Given the description of an element on the screen output the (x, y) to click on. 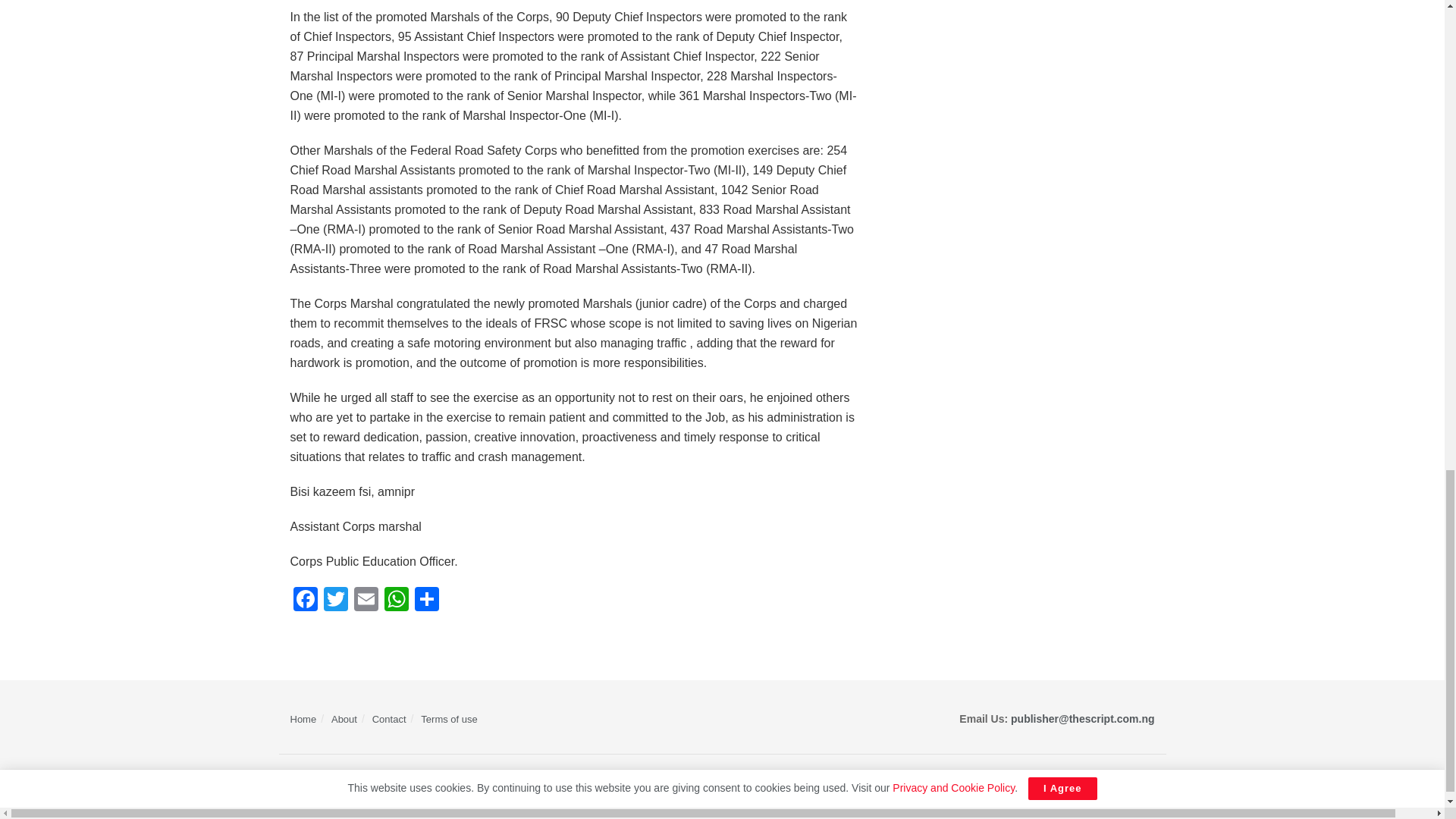
TheScript (356, 777)
Email (365, 601)
WhatsApp (395, 601)
Twitter (335, 601)
Facebook (304, 601)
